Given the description of an element on the screen output the (x, y) to click on. 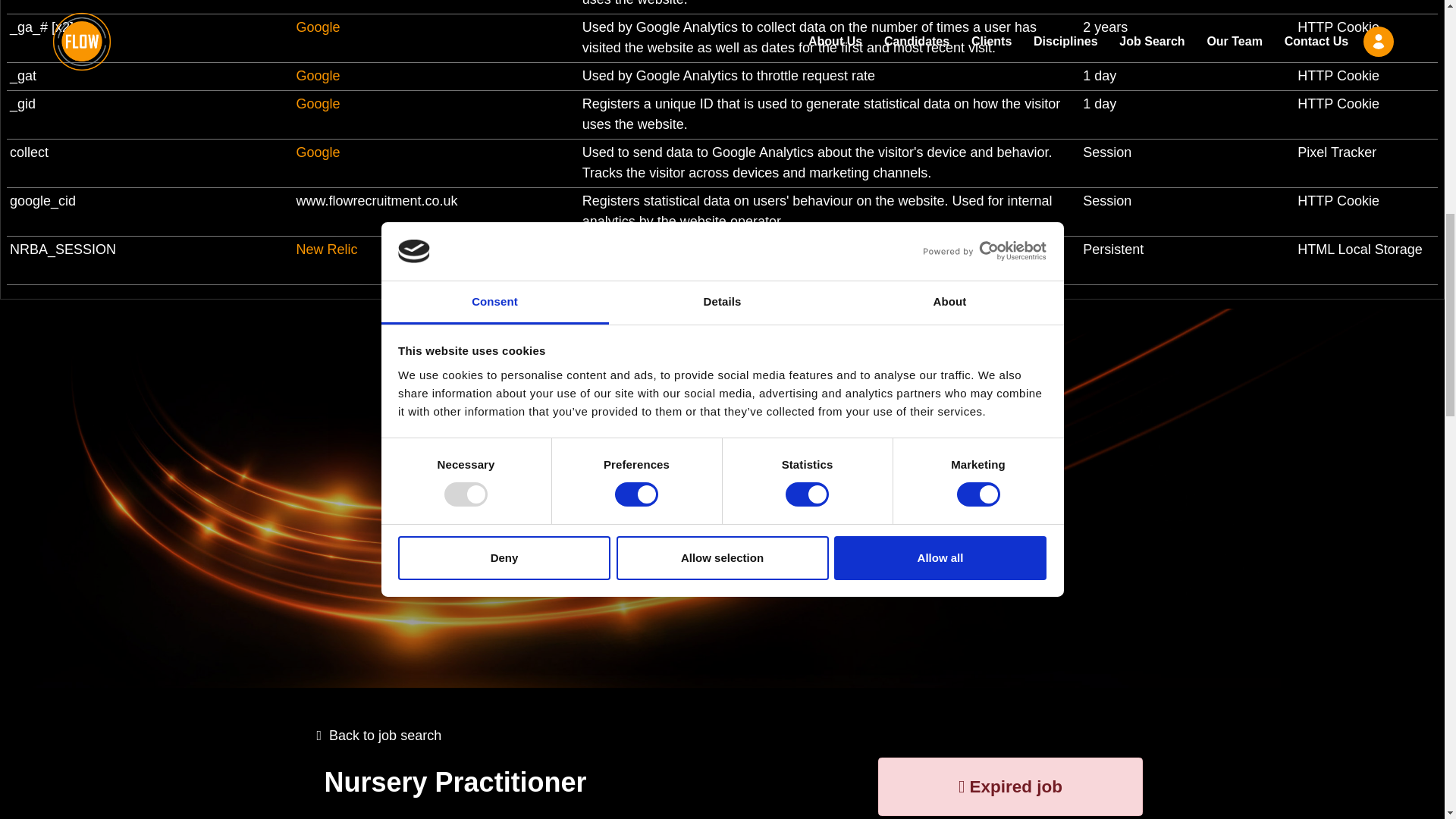
Google's privacy policy (317, 75)
Google (317, 27)
Google (317, 103)
Google's privacy policy (317, 103)
Google (317, 75)
Google's privacy policy (317, 27)
New Relic (325, 249)
Google (317, 151)
Google's privacy policy (317, 151)
New Relic's privacy policy (325, 249)
